Given the description of an element on the screen output the (x, y) to click on. 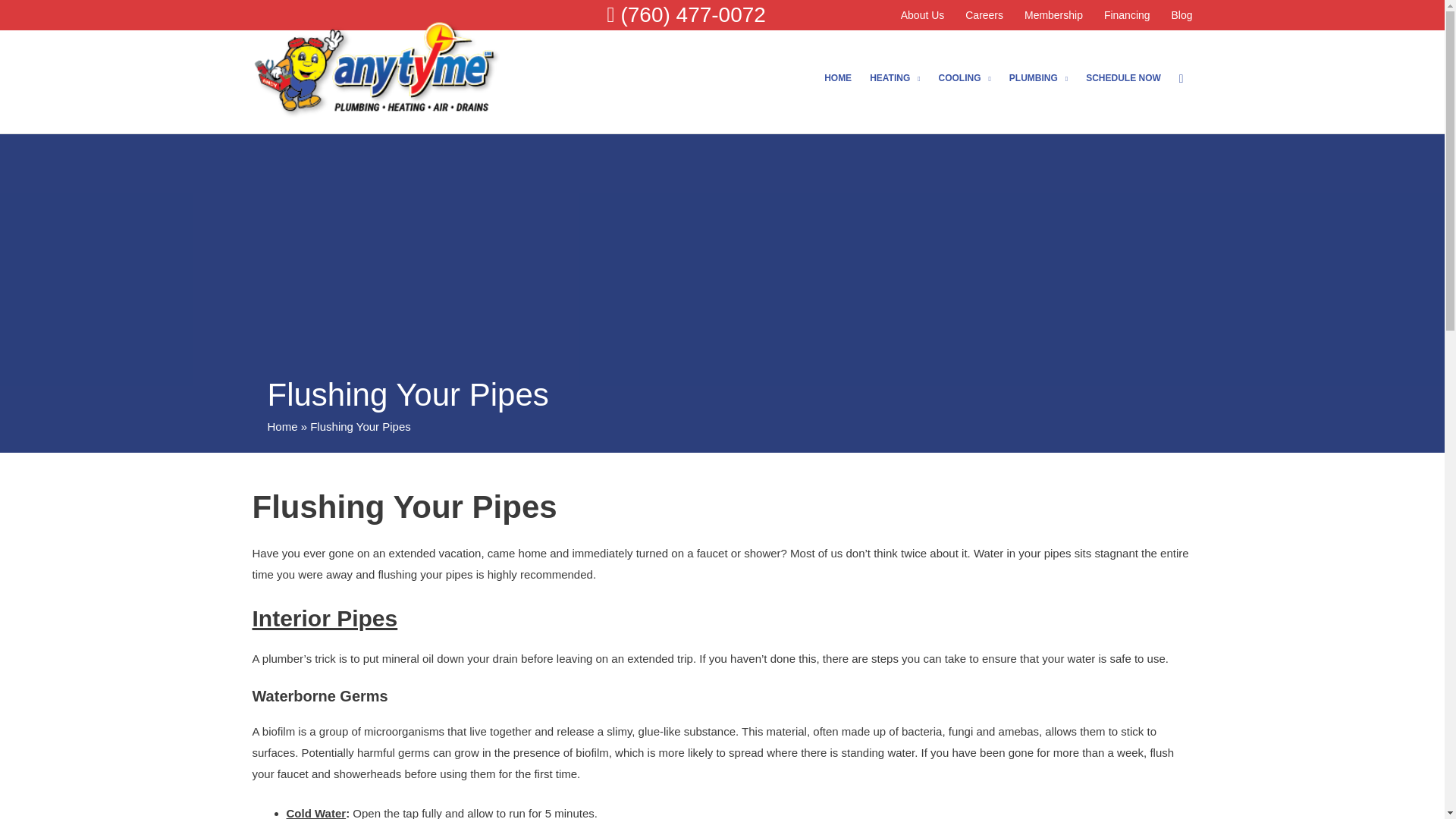
HEATING (894, 77)
Financing (1126, 15)
Membership (1053, 15)
COOLING (965, 77)
Careers (984, 15)
About Us (922, 15)
PLUMBING (1038, 77)
HOME (837, 77)
Blog (1176, 15)
SCHEDULE NOW (1123, 77)
